Given the description of an element on the screen output the (x, y) to click on. 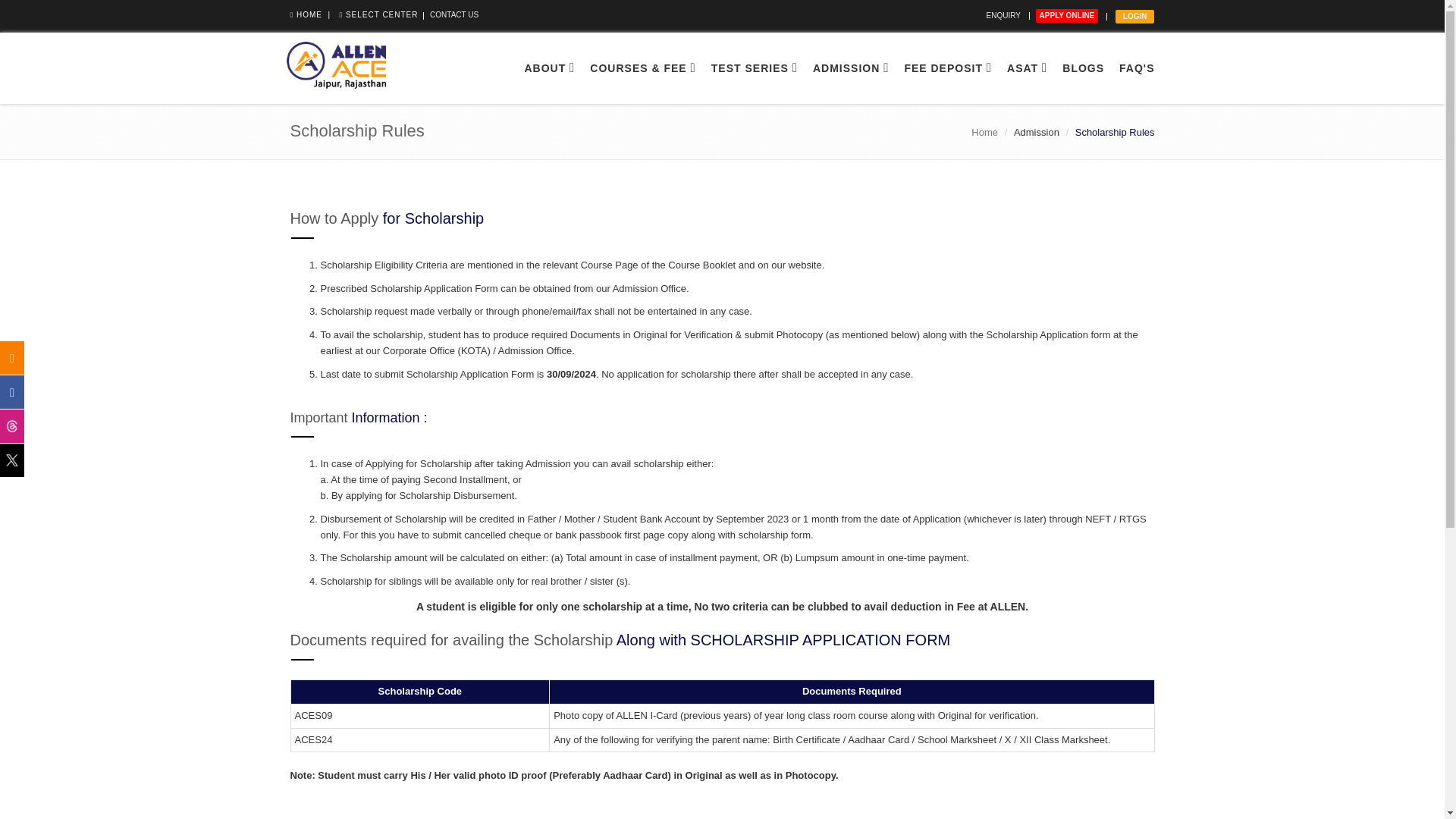
TEST SERIES (754, 68)
SELECT CENTER (378, 14)
LOGIN (1134, 16)
APPLY ONLINE (1067, 15)
ENQUIRY (1003, 15)
HOME (305, 14)
ABOUT (549, 68)
CONTACT US (454, 14)
